Given the description of an element on the screen output the (x, y) to click on. 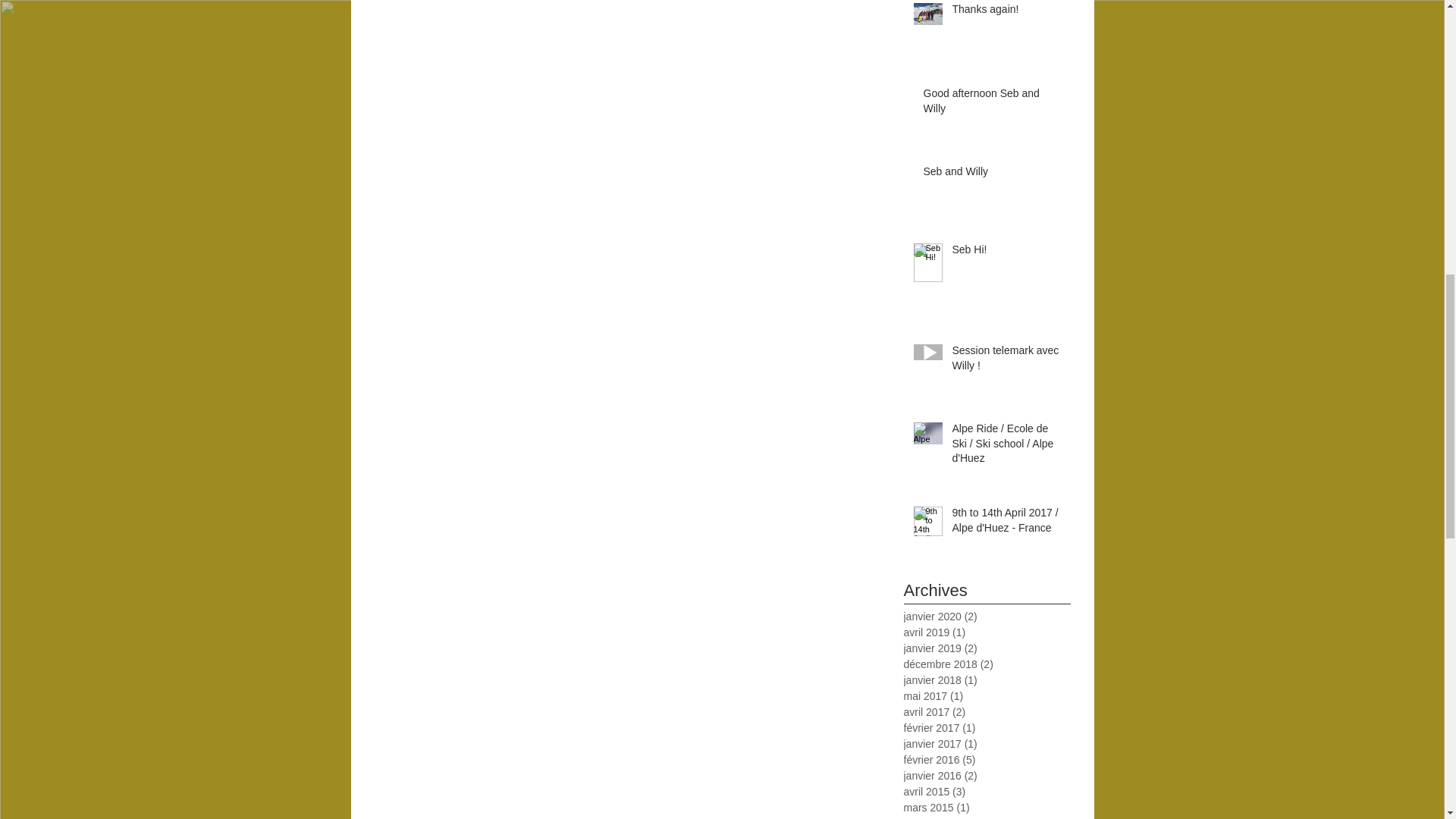
Session telemark avec Willy ! (1006, 361)
Thanks again! (1006, 12)
Seb and Willy (992, 174)
Seb Hi! (1006, 252)
Good afternoon Seb and Willy (992, 104)
